Given the description of an element on the screen output the (x, y) to click on. 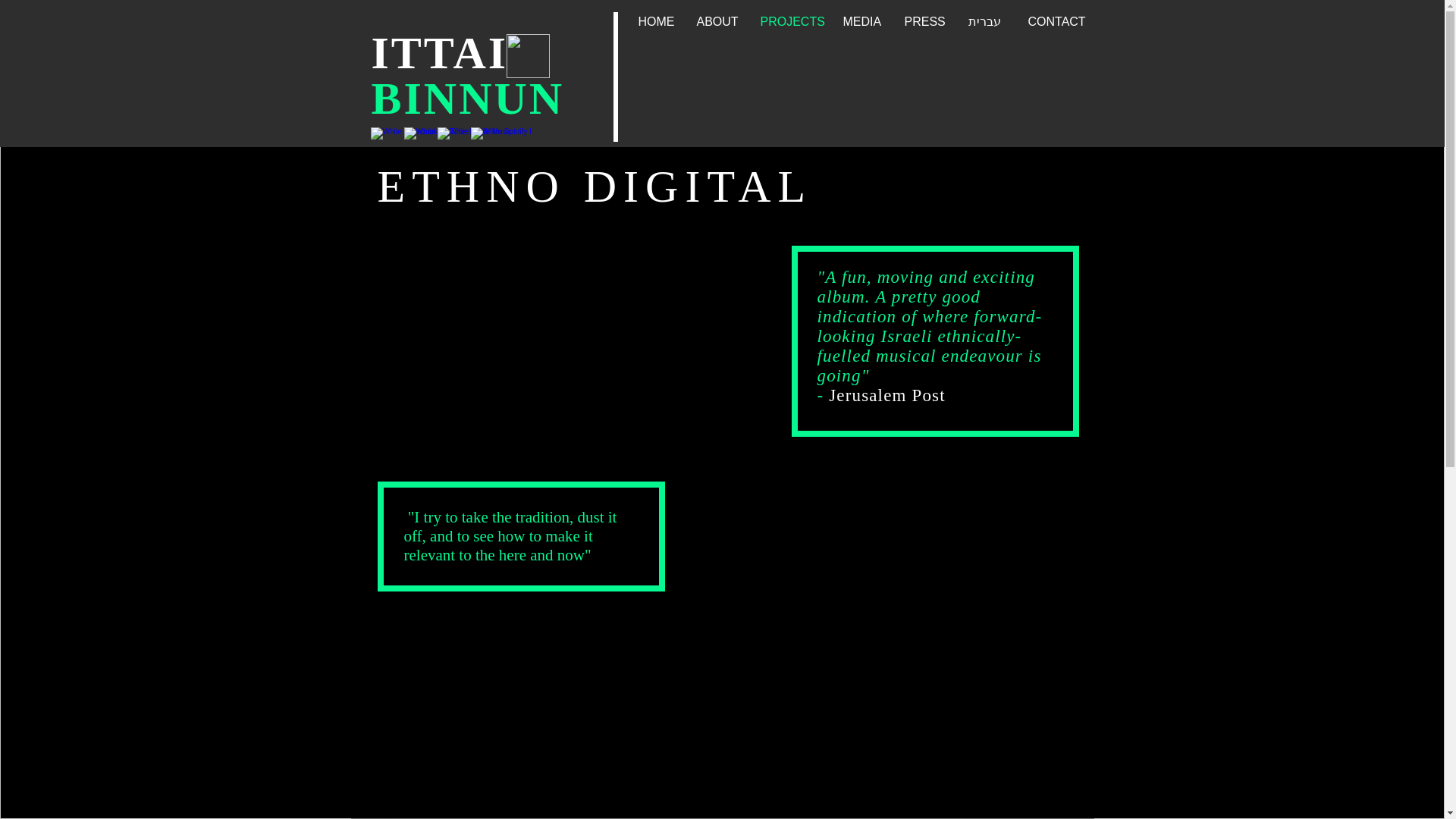
CONTACT (1056, 21)
PRESS (926, 21)
PROJECTS (791, 21)
ITTAI (439, 52)
BINNUN (467, 98)
External YouTube (559, 719)
MEDIA (864, 21)
External YouTube (559, 350)
ABOUT (719, 21)
HOME (657, 21)
